Given the description of an element on the screen output the (x, y) to click on. 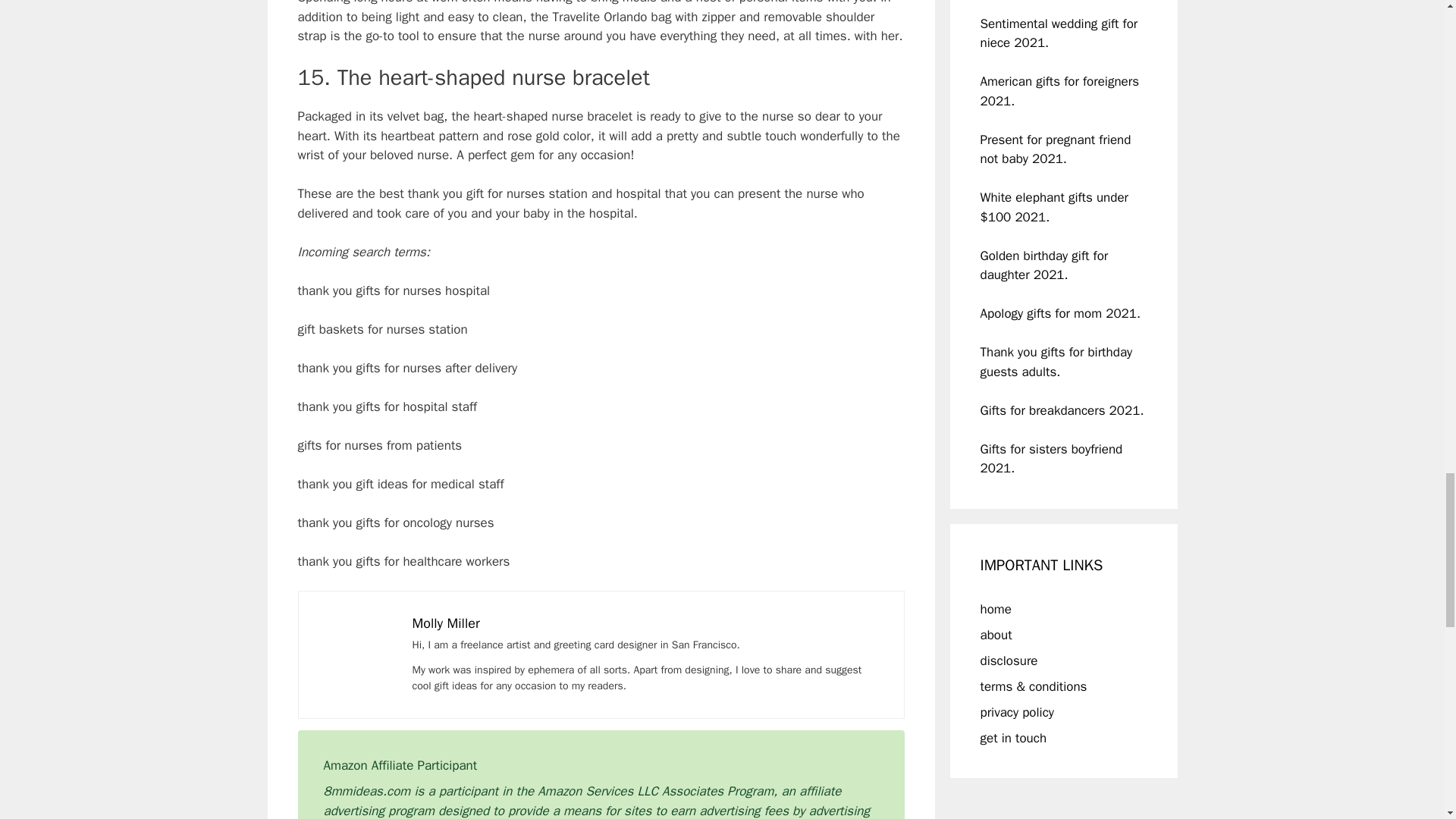
Molly Miller (446, 622)
